Given the description of an element on the screen output the (x, y) to click on. 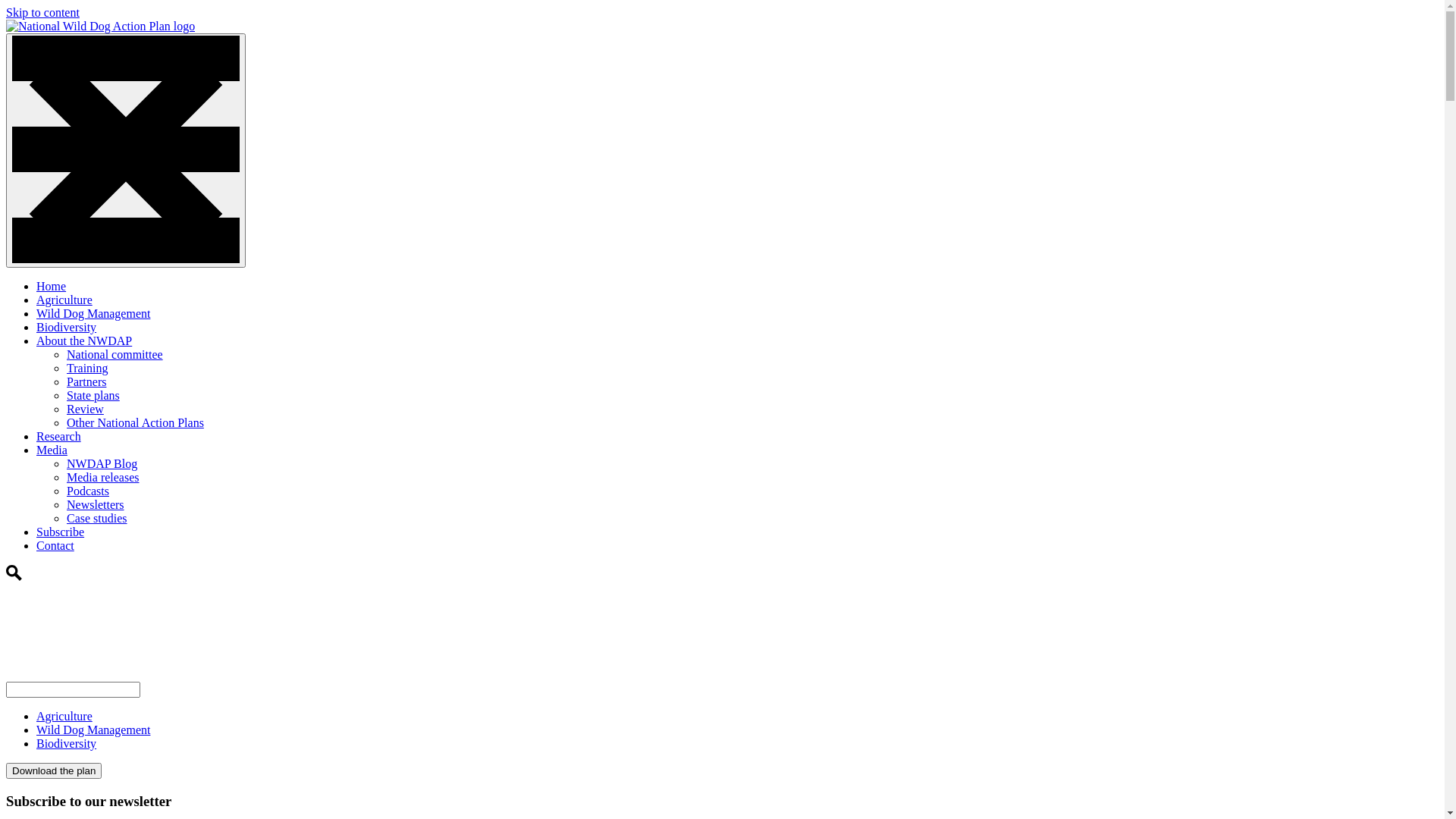
Home Element type: text (50, 285)
State plans Element type: text (92, 395)
Case studies Element type: text (96, 517)
Skip to content Element type: text (42, 12)
Subscribe Element type: text (60, 531)
National committee Element type: text (114, 354)
Partners Element type: text (86, 381)
Newsletters Element type: text (95, 504)
About the NWDAP Element type: text (83, 340)
Training Element type: text (87, 367)
Media Element type: text (51, 449)
Wild Dog Management Element type: text (93, 729)
Agriculture Element type: text (64, 715)
Download the plan Element type: text (53, 770)
Other National Action Plans Element type: text (134, 422)
Podcasts Element type: text (87, 490)
Biodiversity Element type: text (66, 326)
Media releases Element type: text (102, 476)
Review Element type: text (84, 408)
Research Element type: text (58, 435)
NWDAP Blog Element type: text (101, 463)
Contact Element type: text (55, 545)
Agriculture Element type: text (64, 299)
Wild Dog Management Element type: text (93, 313)
Download the plan Element type: text (53, 769)
Biodiversity Element type: text (66, 743)
